Given the description of an element on the screen output the (x, y) to click on. 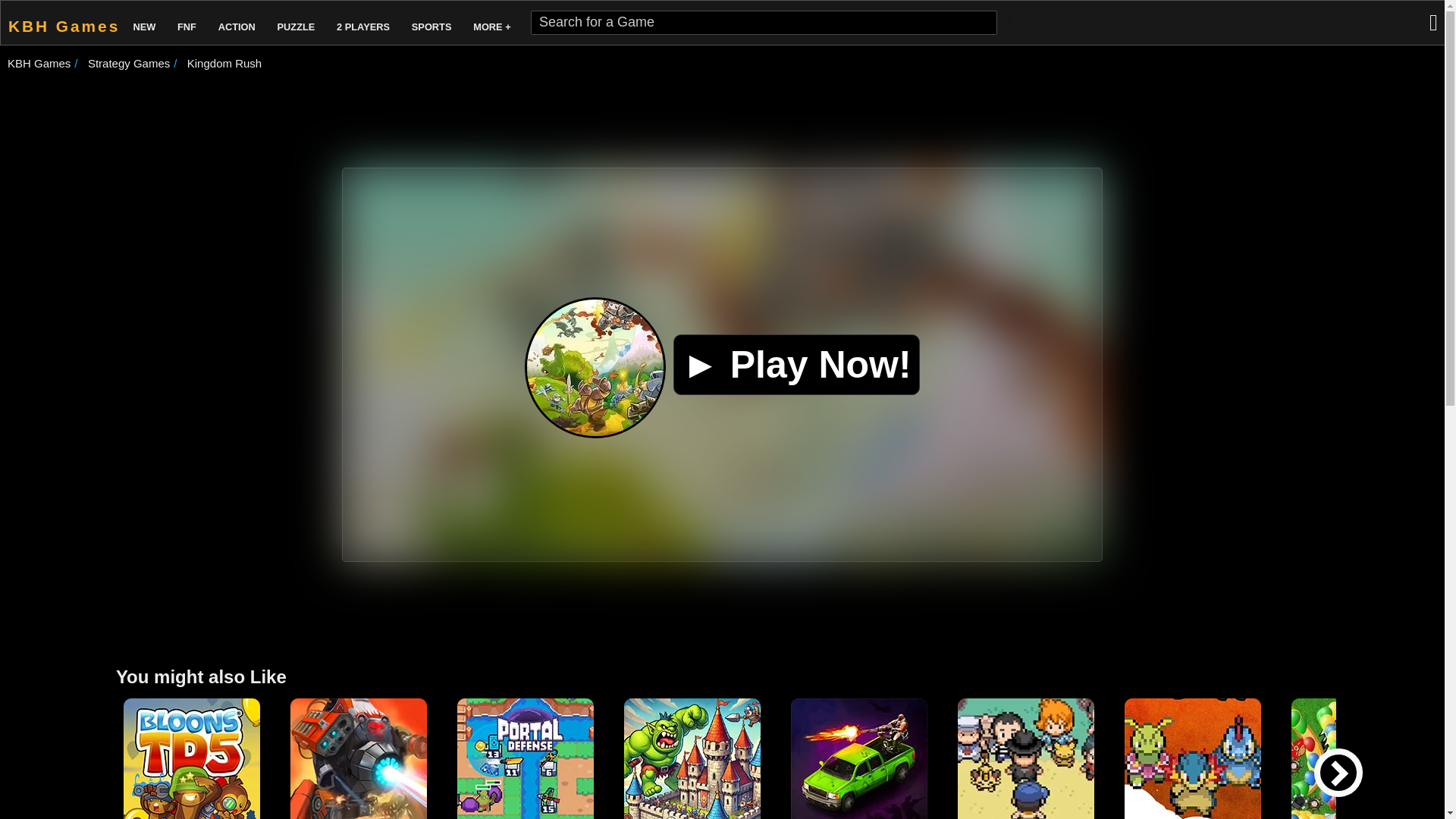
Strategy Games (128, 62)
Bloons Tower Defense 3 (1359, 758)
Pokemon Tower Defense 2 (1192, 758)
Advertisement (722, 115)
Bloons Tower Defense 5 (191, 758)
Tower Defense: Defense Legend (357, 758)
Portal TD - Tower Defense (525, 758)
Advertisement (722, 611)
Apexlands - Idle Tower Defense (692, 758)
2 PLAYERS (363, 22)
